Given the description of an element on the screen output the (x, y) to click on. 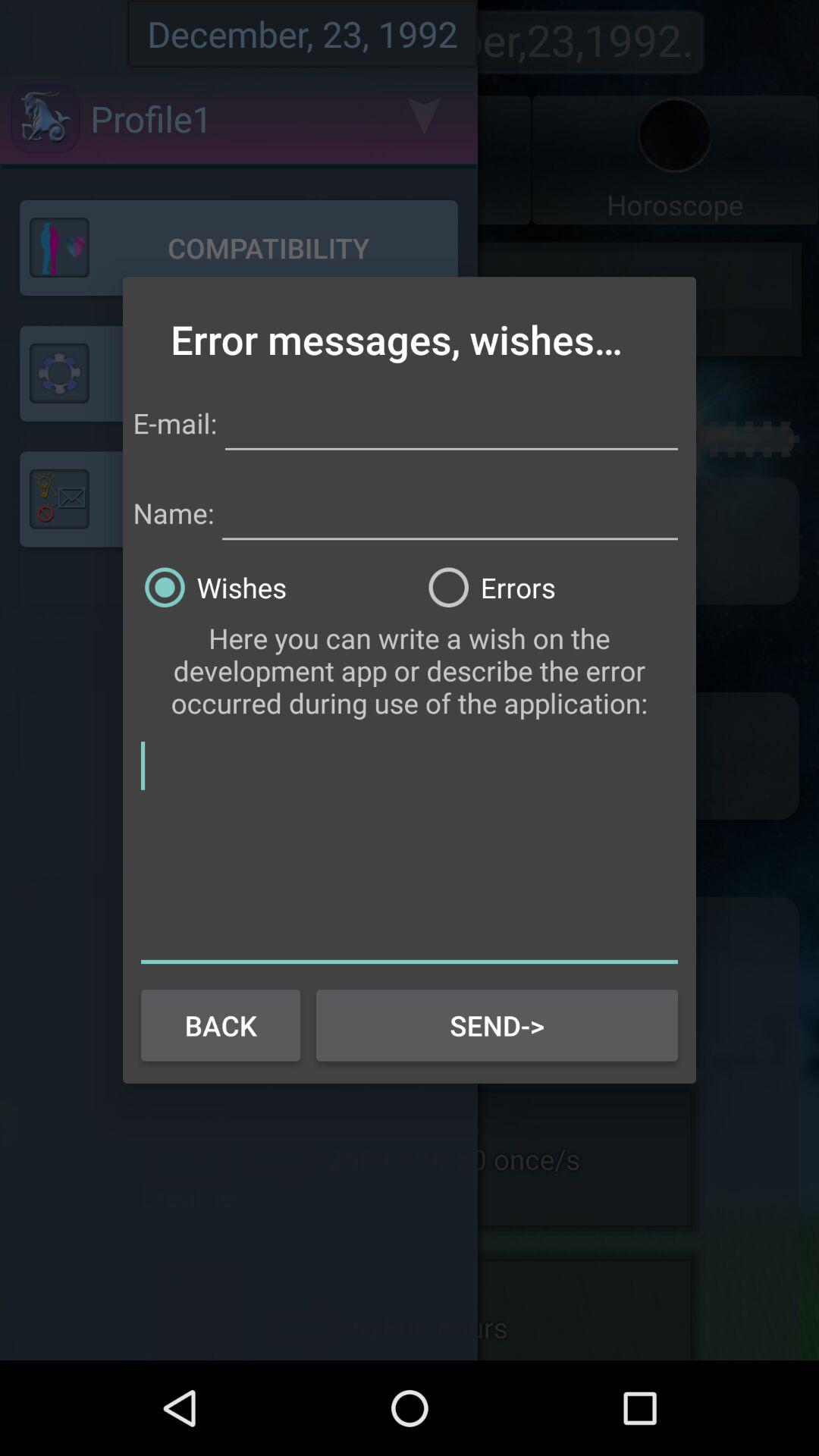
launch the icon next to wishes (550, 587)
